Given the description of an element on the screen output the (x, y) to click on. 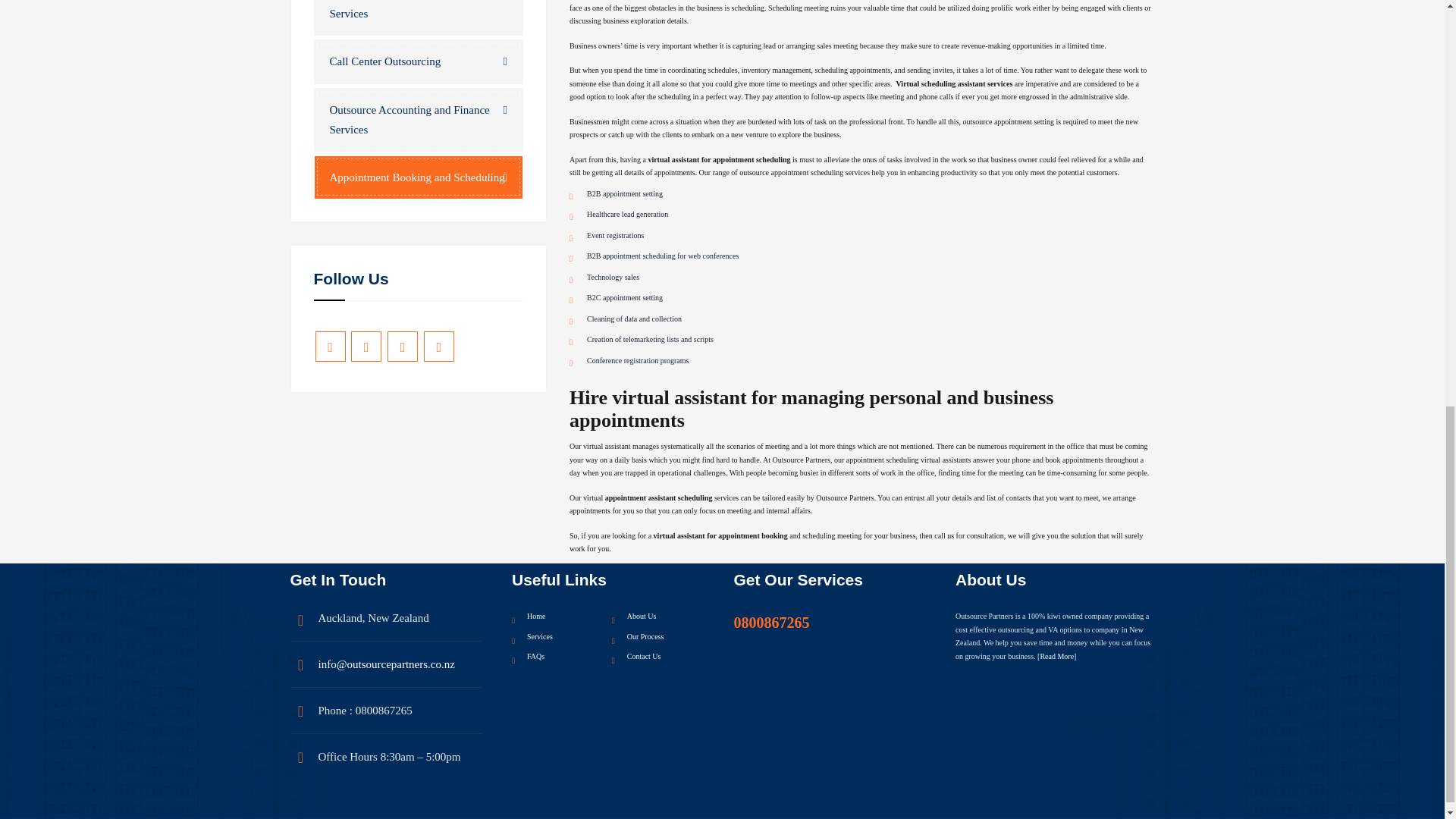
Call Center Outsourcing (418, 61)
Outsource Account Management Services (418, 18)
Outsource Accounting and Finance Services (418, 118)
